Given the description of an element on the screen output the (x, y) to click on. 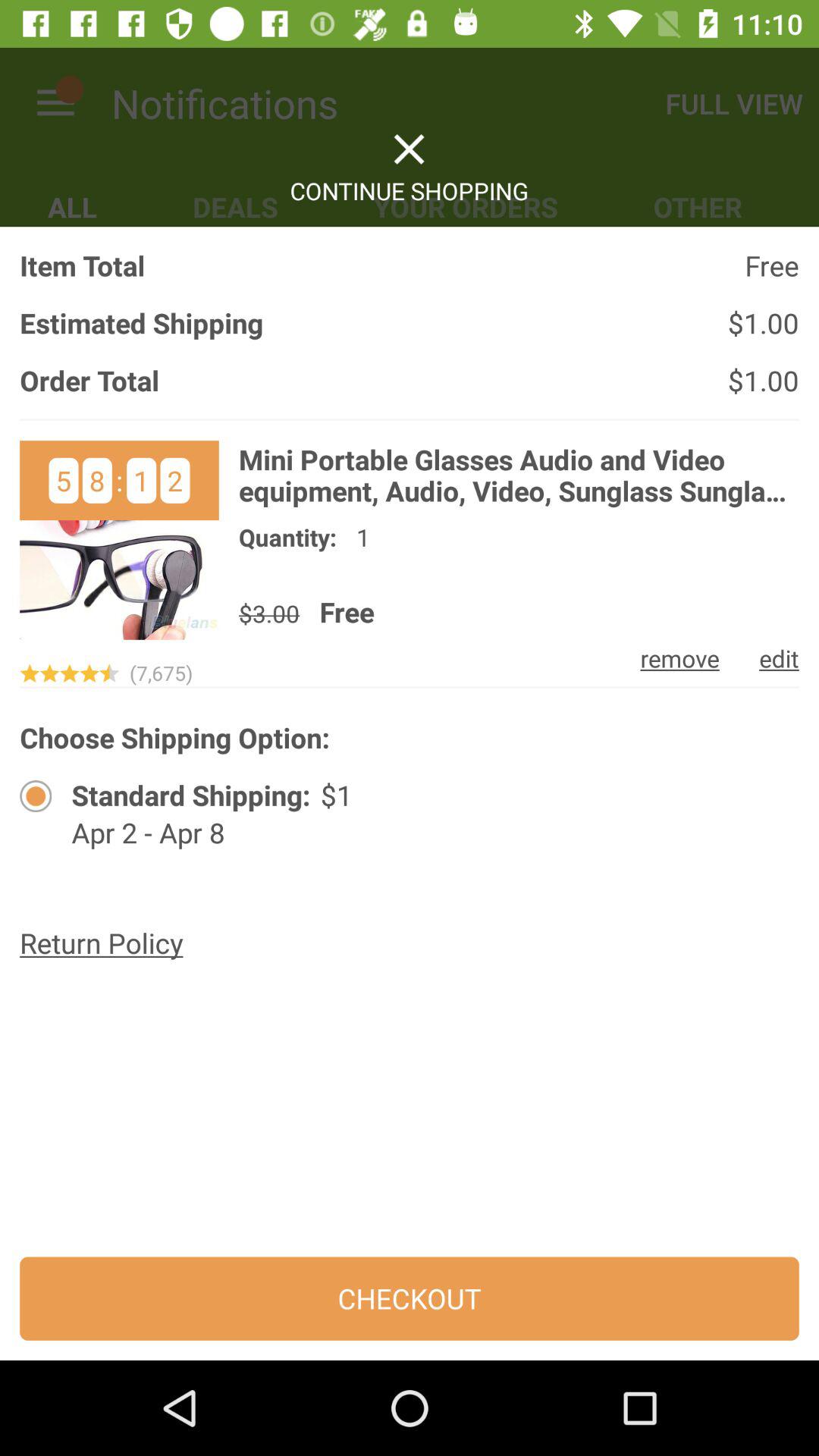
view item detail (118, 539)
